Given the description of an element on the screen output the (x, y) to click on. 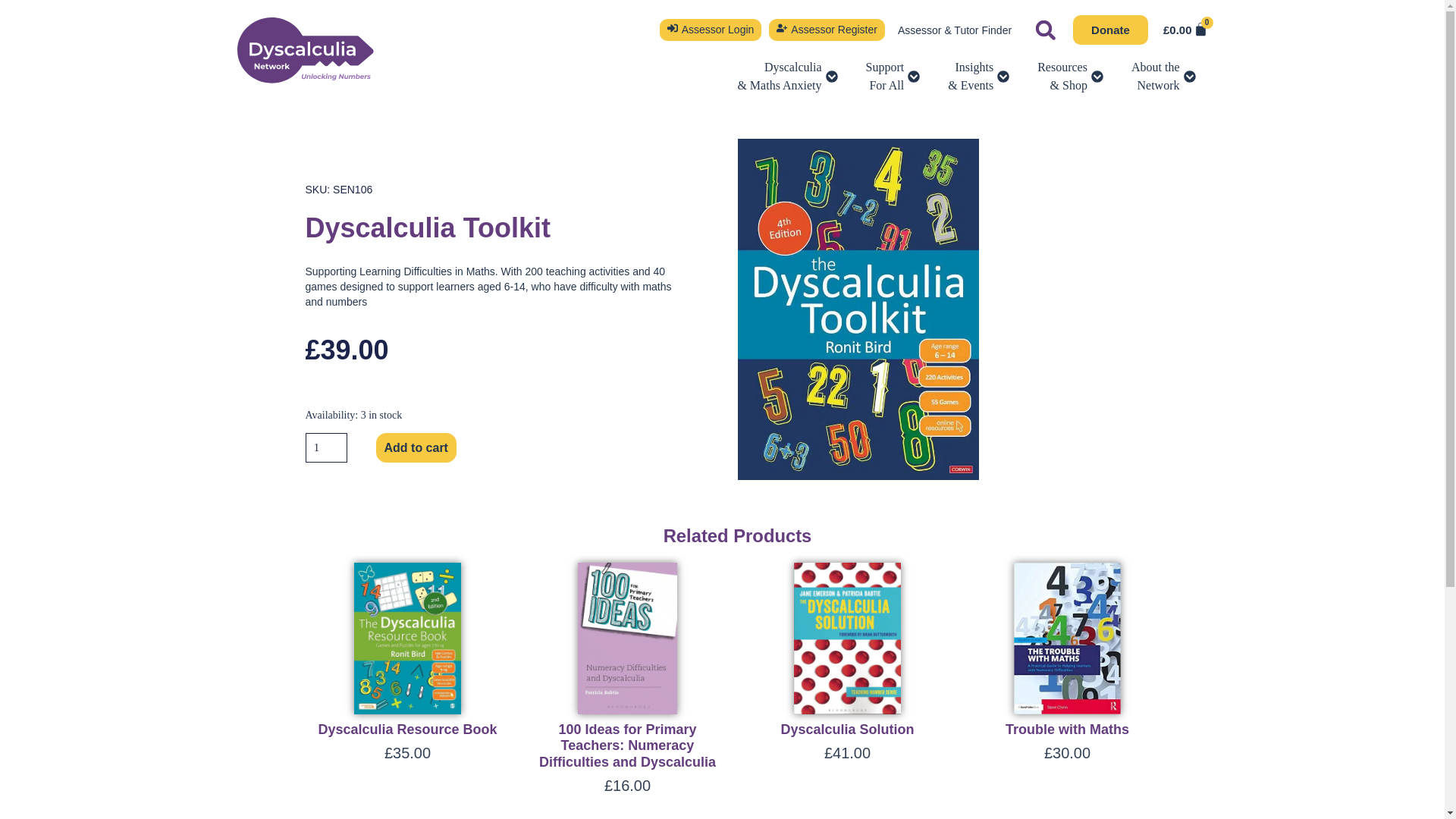
Assessor Register (826, 29)
Donate (1110, 30)
1 (325, 447)
Assessor Login (710, 29)
